Given the description of an element on the screen output the (x, y) to click on. 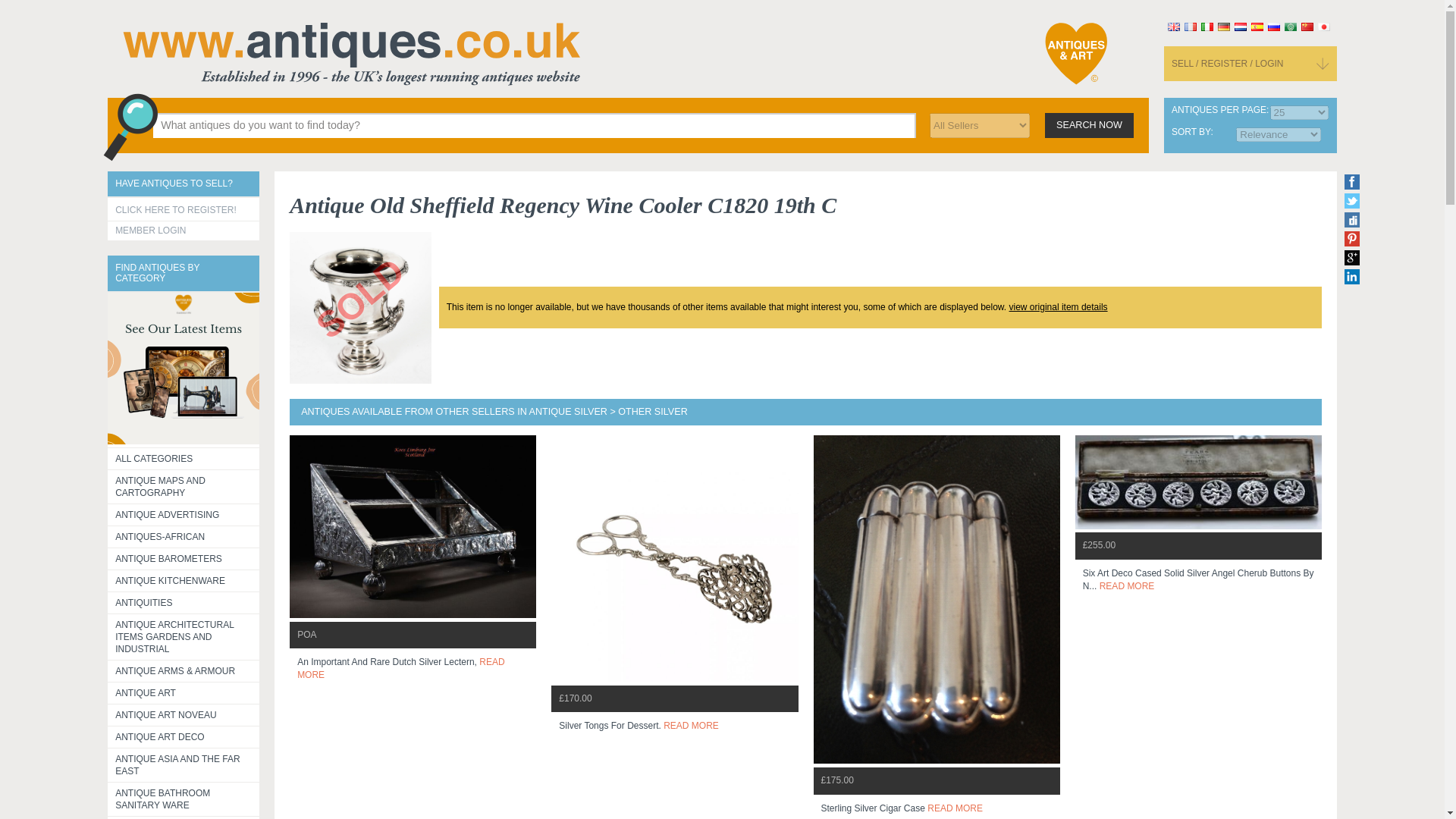
ANTIQUE KITCHENWARE (183, 580)
ALL CATEGORIES (183, 457)
MEMBER LOGIN (183, 230)
ANTIQUE BOOKS (183, 817)
ANTIQUE MAPS AND CARTOGRAPHY (183, 486)
ANTIQUES-AFRICAN (183, 536)
ANTIQUITIES (183, 601)
CLICK HERE TO REGISTER! (183, 209)
ANTIQUE BATHROOM SANITARY WARE (183, 798)
ANTIQUE ART (183, 692)
ANTIQUE ARCHITECTURAL ITEMS GARDENS AND INDUSTRIAL (183, 637)
ANTIQUE BAROMETERS (183, 557)
ANTIQUE ART NOVEAU (183, 713)
ANTIQUE ADVERTISING (183, 513)
SEARCH NOW (1089, 124)
